Given the description of an element on the screen output the (x, y) to click on. 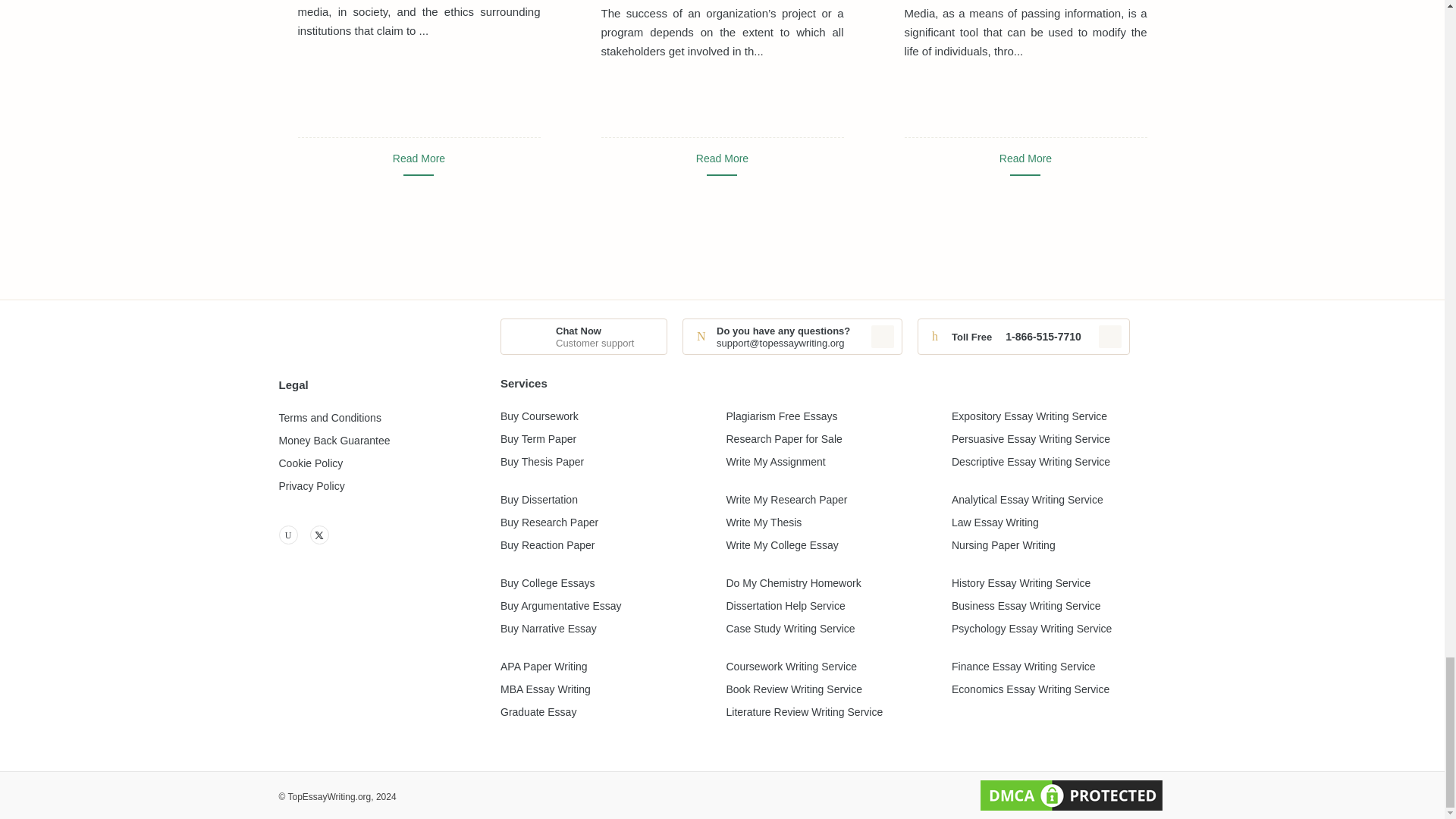
Copied to clipboard (1110, 336)
DMCA.com Protection Status (1071, 795)
Copied to clipboard (881, 336)
